Given the description of an element on the screen output the (x, y) to click on. 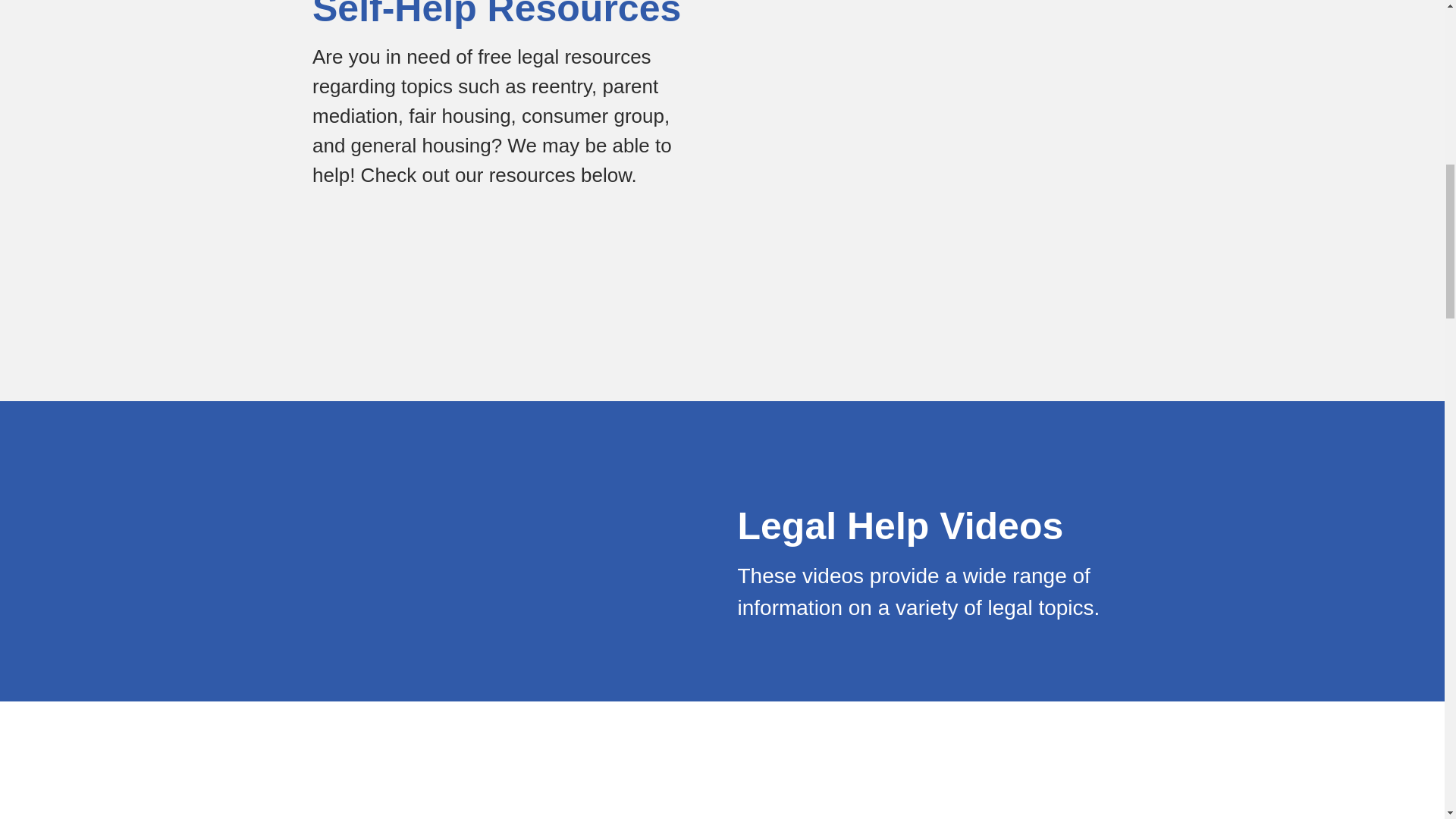
The Eviction Process (715, 789)
Pexels Mart Production 7329674 (934, 165)
Shutterstock 2032921472 1 (313, 789)
